Given the description of an element on the screen output the (x, y) to click on. 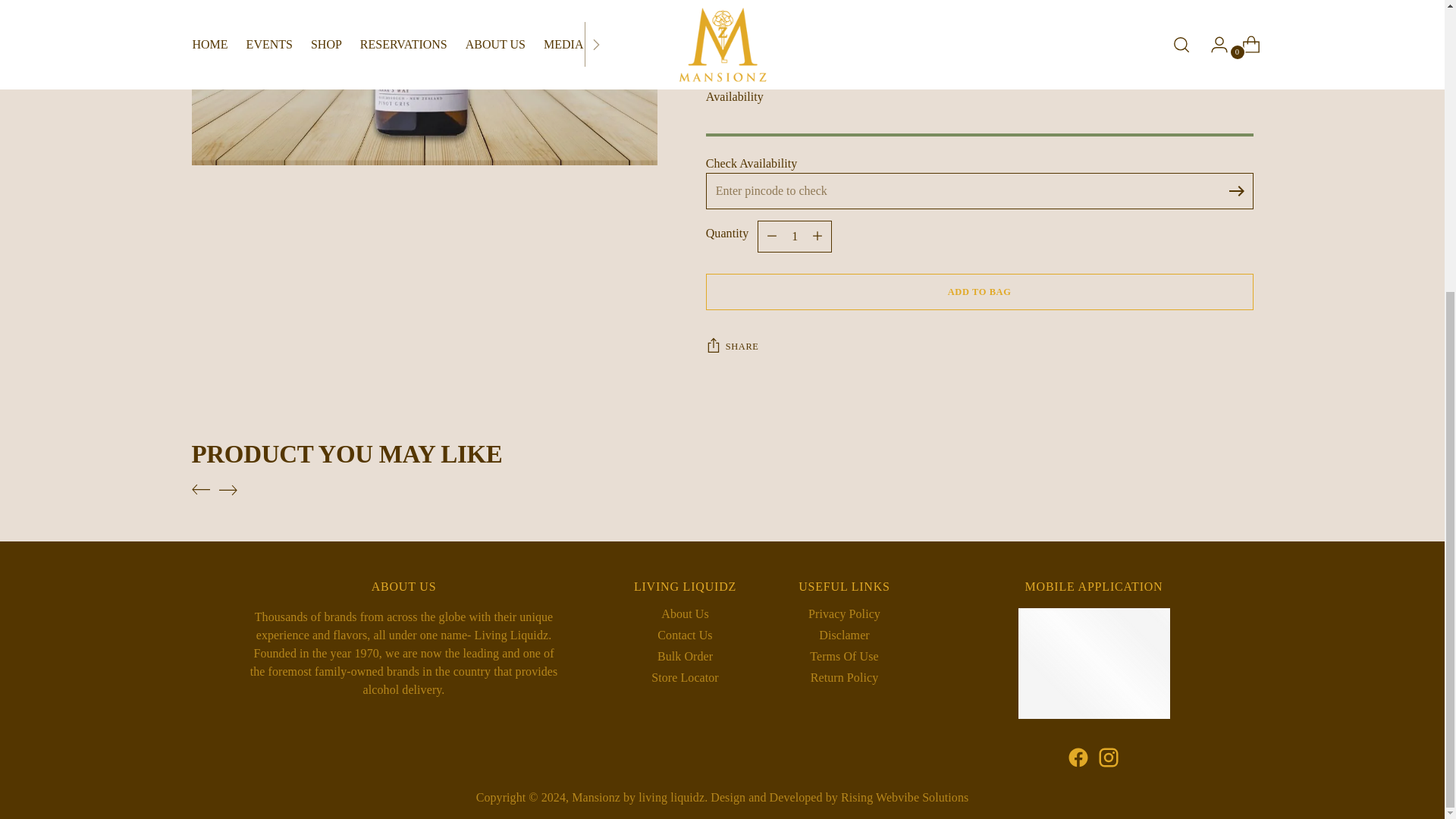
1 (794, 218)
